Given the description of an element on the screen output the (x, y) to click on. 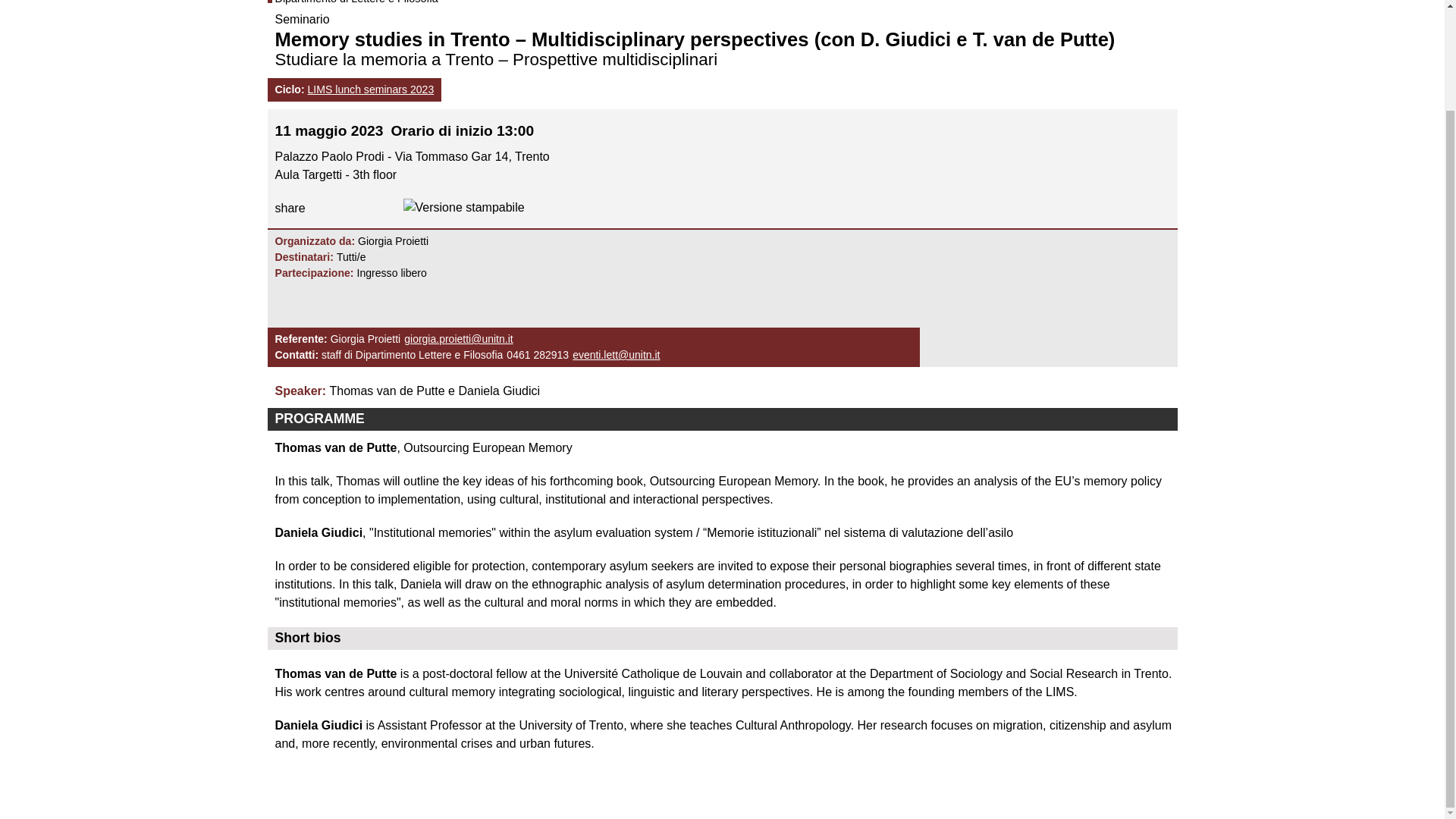
Twitter (384, 207)
Share to Twitter (384, 207)
Facebook (320, 207)
Share to LinkedIn (352, 207)
Share to Facebook (320, 207)
Display a printer-friendly version of this page. (461, 206)
LinkedIn (352, 207)
LIMS lunch seminars 2023 (370, 89)
Versione stampabile (463, 208)
